Given the description of an element on the screen output the (x, y) to click on. 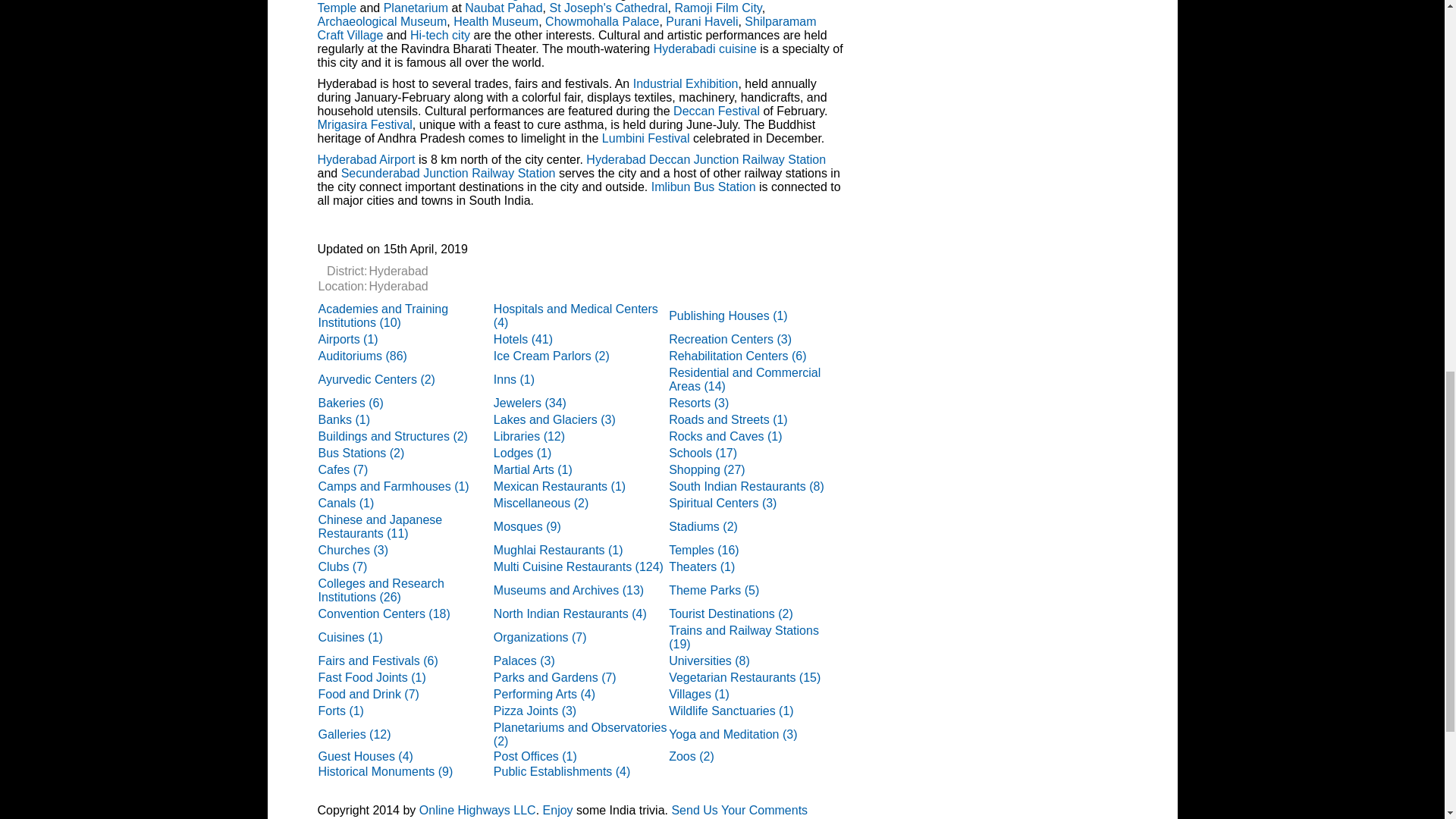
Hyderabadi cuisine (705, 48)
Health Museum (495, 21)
Purani Haveli (701, 21)
St Joseph's Cathedral (607, 7)
Naubat Pahad (502, 7)
Hi-tech city (440, 34)
Planetarium (416, 7)
Archaeological Museum (381, 21)
Industrial Exhibition (685, 83)
